Given the description of an element on the screen output the (x, y) to click on. 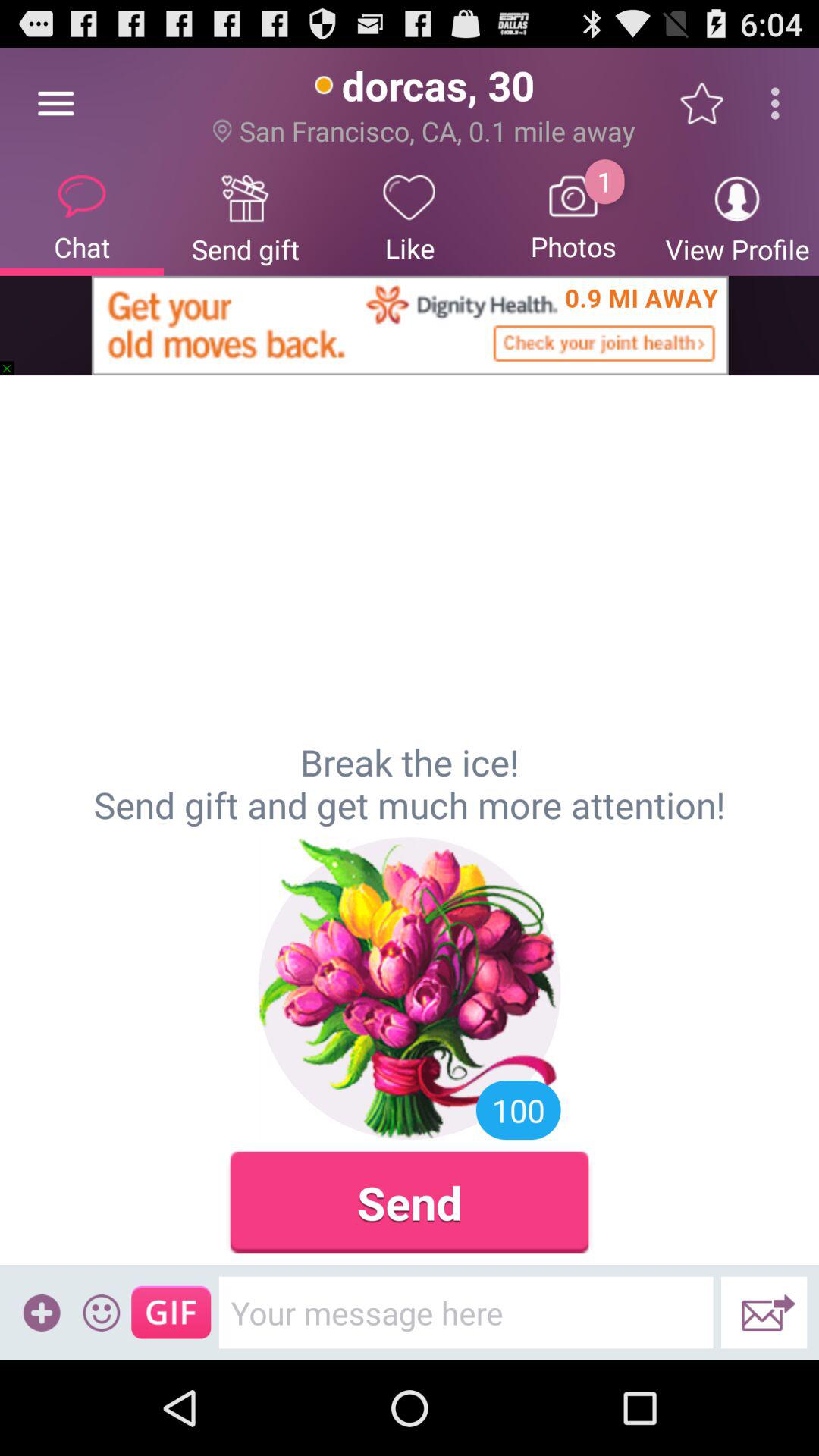
choose item above chat item (55, 103)
